Given the description of an element on the screen output the (x, y) to click on. 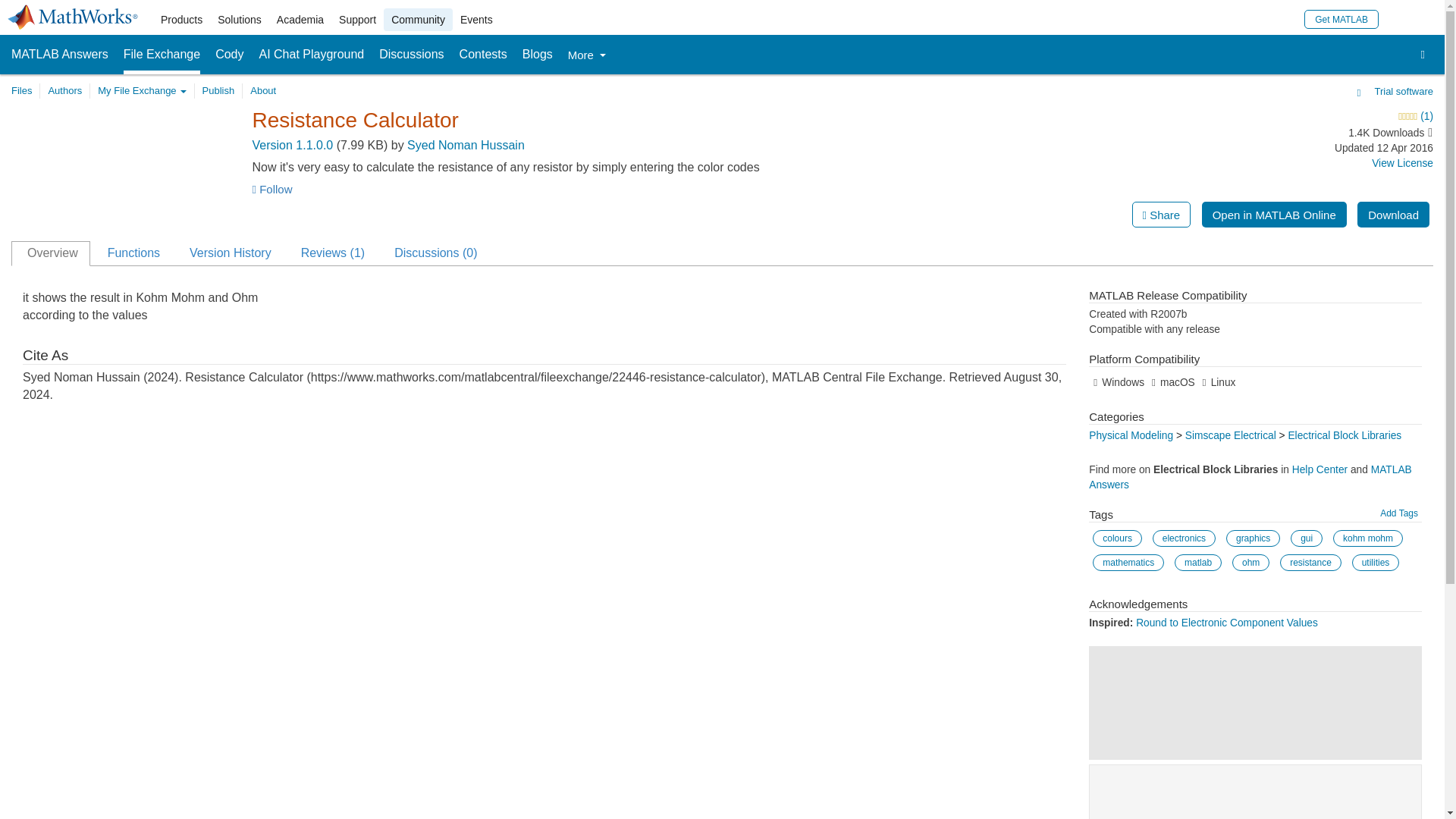
Academia (300, 19)
File Exchange (161, 54)
Sign In to Your MathWorks Account (1396, 18)
More (586, 54)
Support (357, 19)
Discussions (411, 54)
AI Chat Playground (312, 54)
Get MATLAB (1341, 18)
Products (180, 19)
Download (1392, 214)
